Given the description of an element on the screen output the (x, y) to click on. 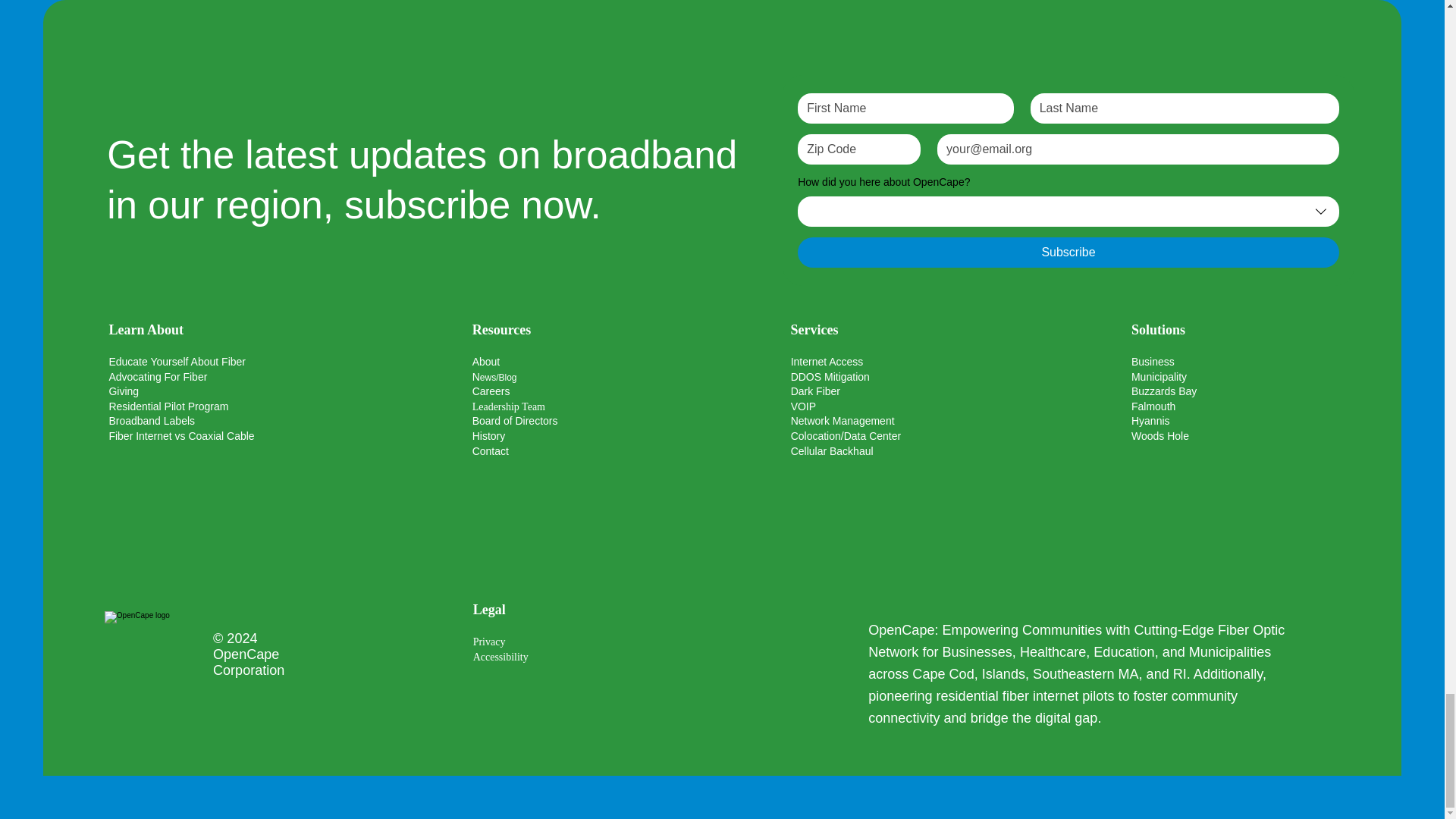
History (488, 435)
Contact (489, 451)
Municipality (1158, 377)
Leadership Team (507, 406)
Subscribe (1068, 252)
Fiber Internet vs Coaxial Cable (180, 435)
Broadband Labels (151, 420)
About (485, 361)
Careers (491, 390)
Residential Pilot Program (167, 406)
